Given the description of an element on the screen output the (x, y) to click on. 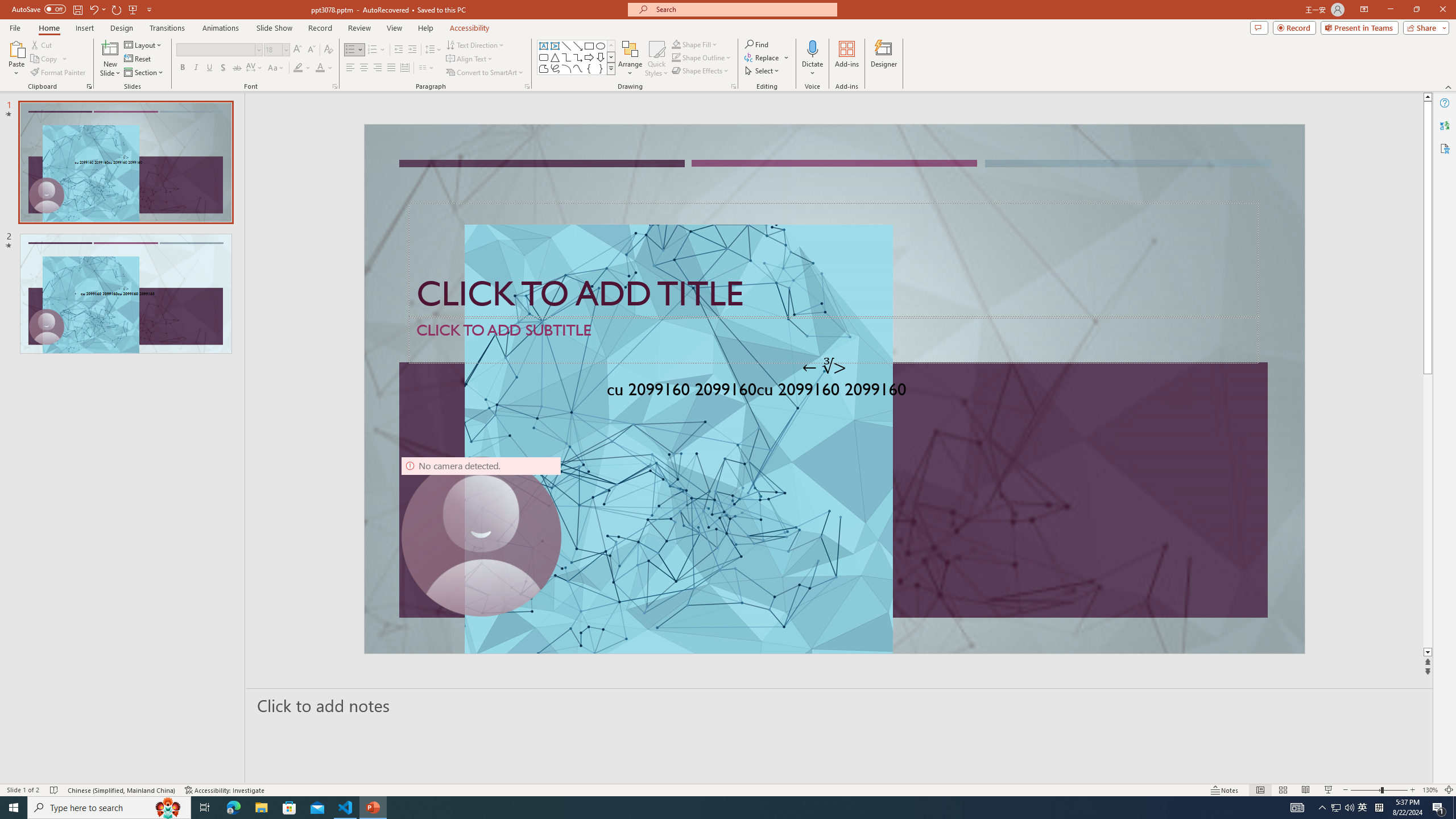
TextBox 61 (832, 391)
